Given the description of an element on the screen output the (x, y) to click on. 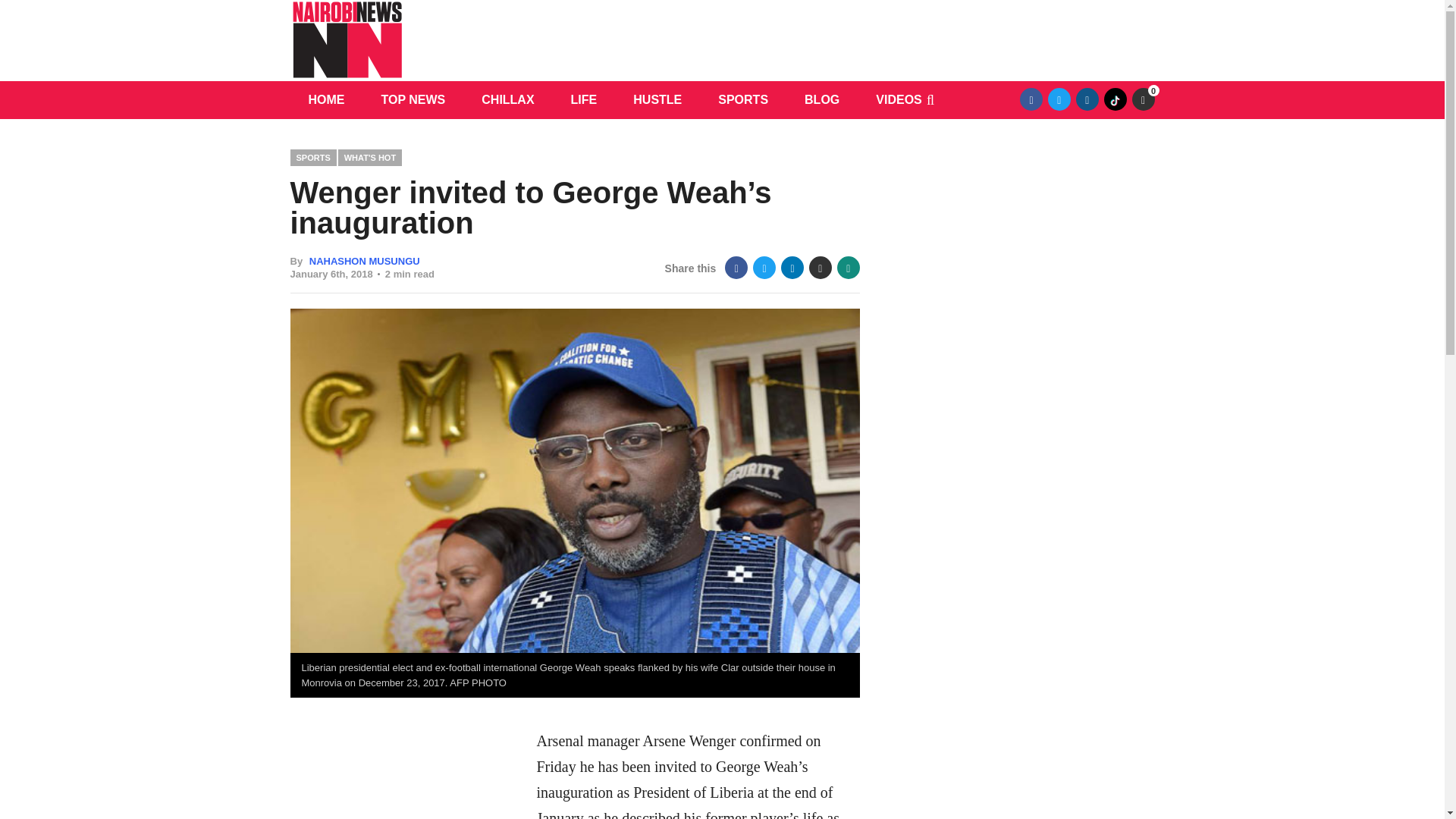
WhatsApp (848, 267)
SPORTS (743, 99)
NAHASHON MUSUNGU (364, 260)
TikTok (1114, 98)
BLOG (821, 99)
LinkedIn (791, 267)
LIFE (584, 99)
HUSTLE (657, 99)
Twitter (1059, 98)
Twitter (764, 267)
